Given the description of an element on the screen output the (x, y) to click on. 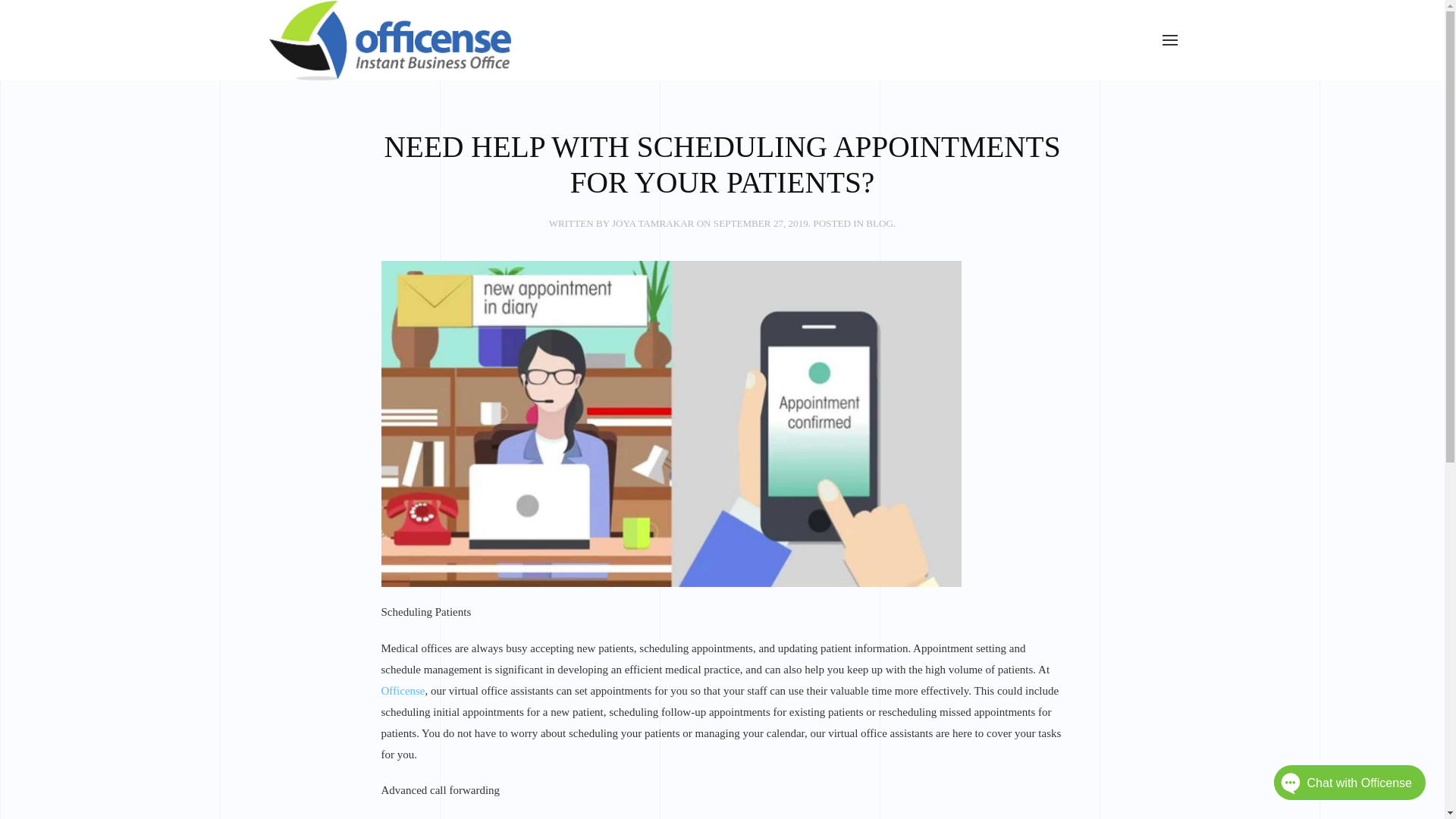
Officense (402, 690)
BLOG (879, 222)
JOYA TAMRAKAR (652, 222)
Chat with Officense (1325, 786)
